Given the description of an element on the screen output the (x, y) to click on. 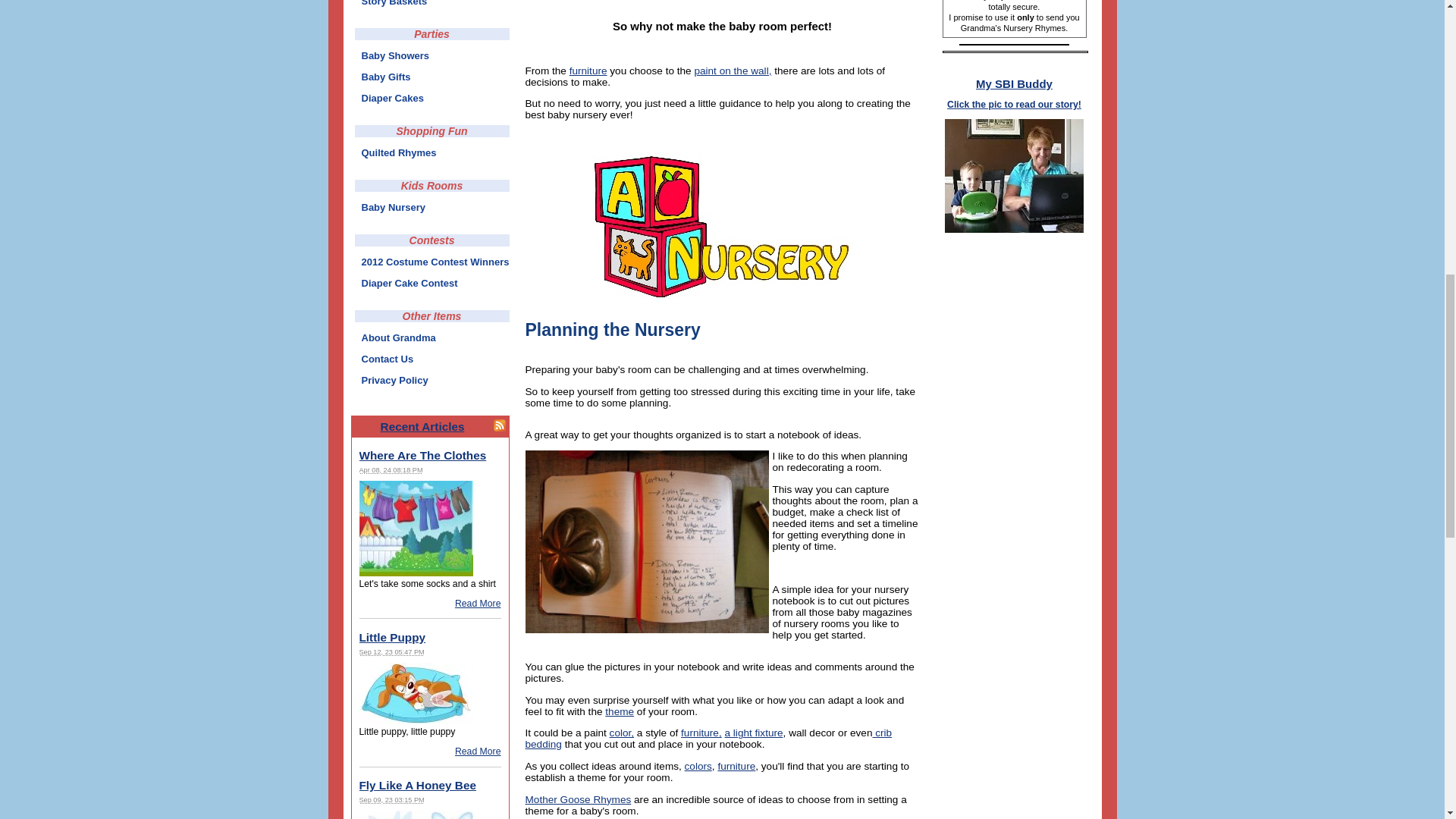
color, (622, 732)
Mother Goose Rhymes (577, 799)
theme (619, 711)
furniture (736, 766)
furniture (588, 70)
2024-04-08T20:18:27-0400 (391, 470)
2023-09-12T17:47:16-0400 (392, 652)
a light fixture (754, 732)
furniture, (701, 732)
paint on the wall, (732, 70)
